Given the description of an element on the screen output the (x, y) to click on. 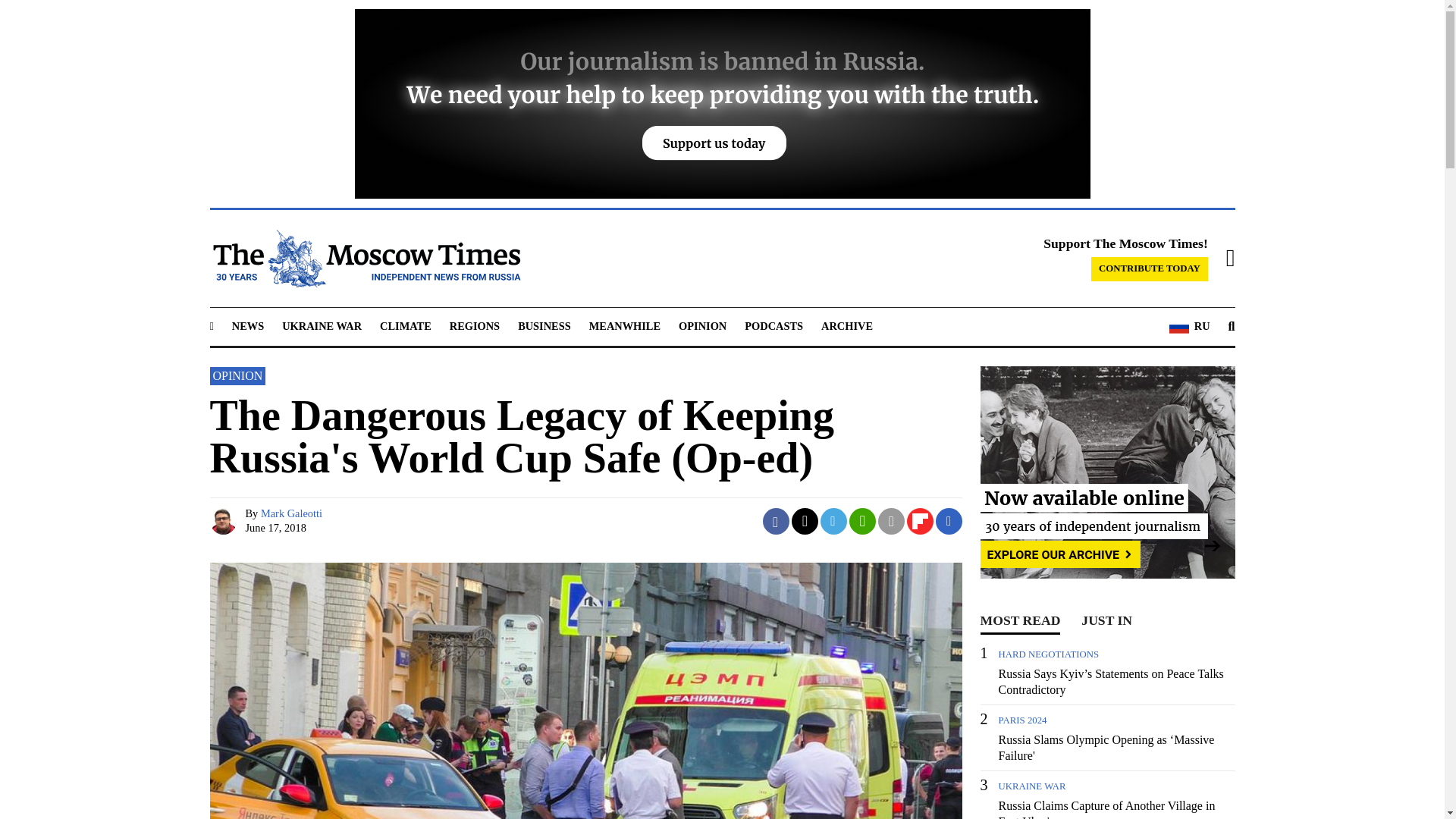
OPINION (702, 326)
PODCASTS (773, 326)
BUSINESS (544, 326)
NEWS (247, 326)
CONTRIBUTE TODAY (1149, 269)
Share on Facebook (775, 520)
REGIONS (474, 326)
Mark Galeotti (224, 520)
UKRAINE WAR (321, 326)
Mark Galeotti (290, 512)
Share on Telegram (834, 520)
The Moscow Times - Independent News from Russia (364, 258)
MEANWHILE (625, 326)
Share on Twitter (805, 520)
CLIMATE (405, 326)
